Given the description of an element on the screen output the (x, y) to click on. 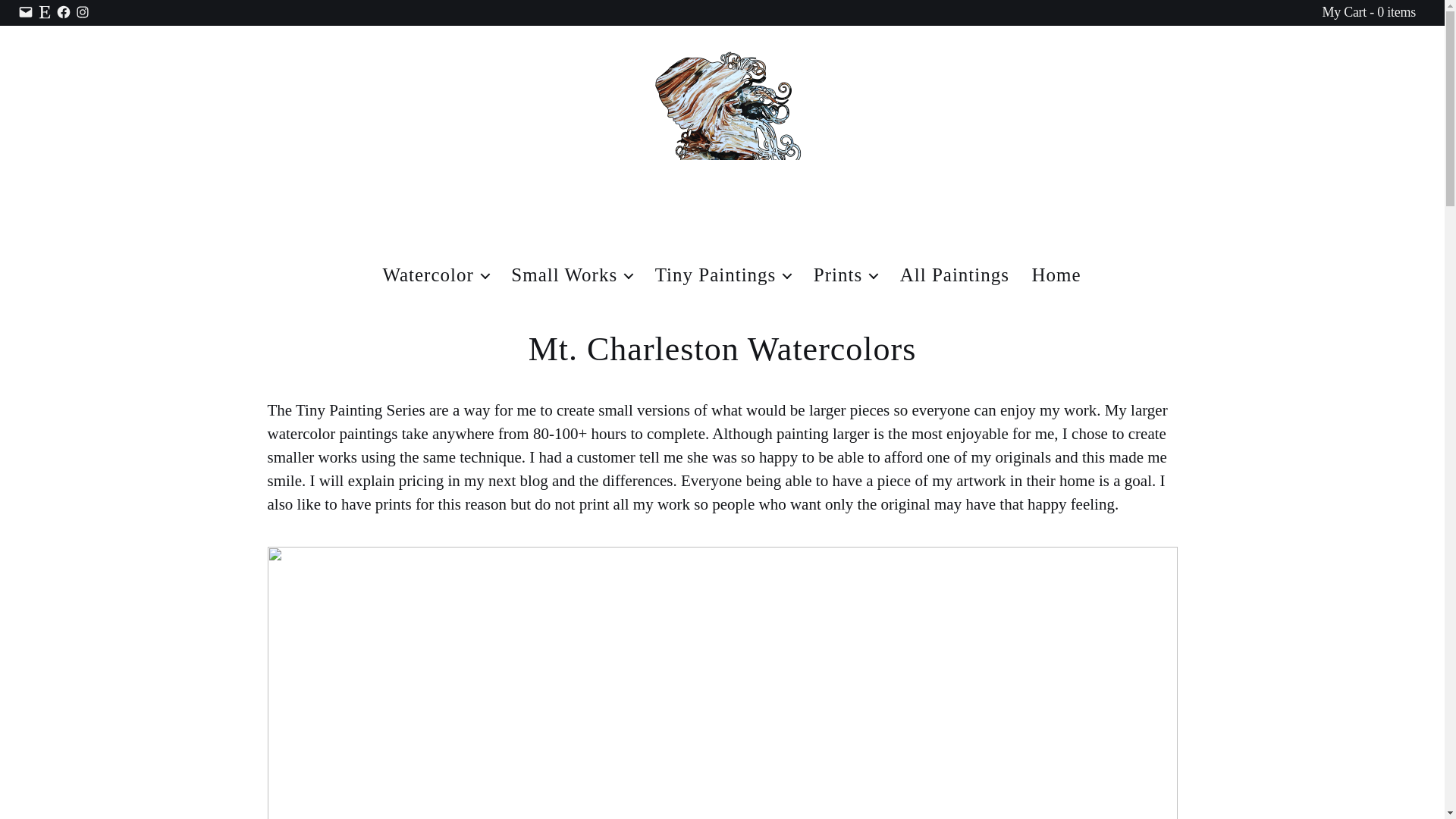
Instagram (82, 11)
Prints (845, 274)
Small Works (571, 274)
Watercolor (434, 274)
My Cart - 0 items (1368, 12)
Contact (25, 11)
Tiny Paintings (723, 274)
Contact Karen Hilliard Art (25, 11)
Acrylic Paintings (571, 274)
My Cart (1368, 12)
